Given the description of an element on the screen output the (x, y) to click on. 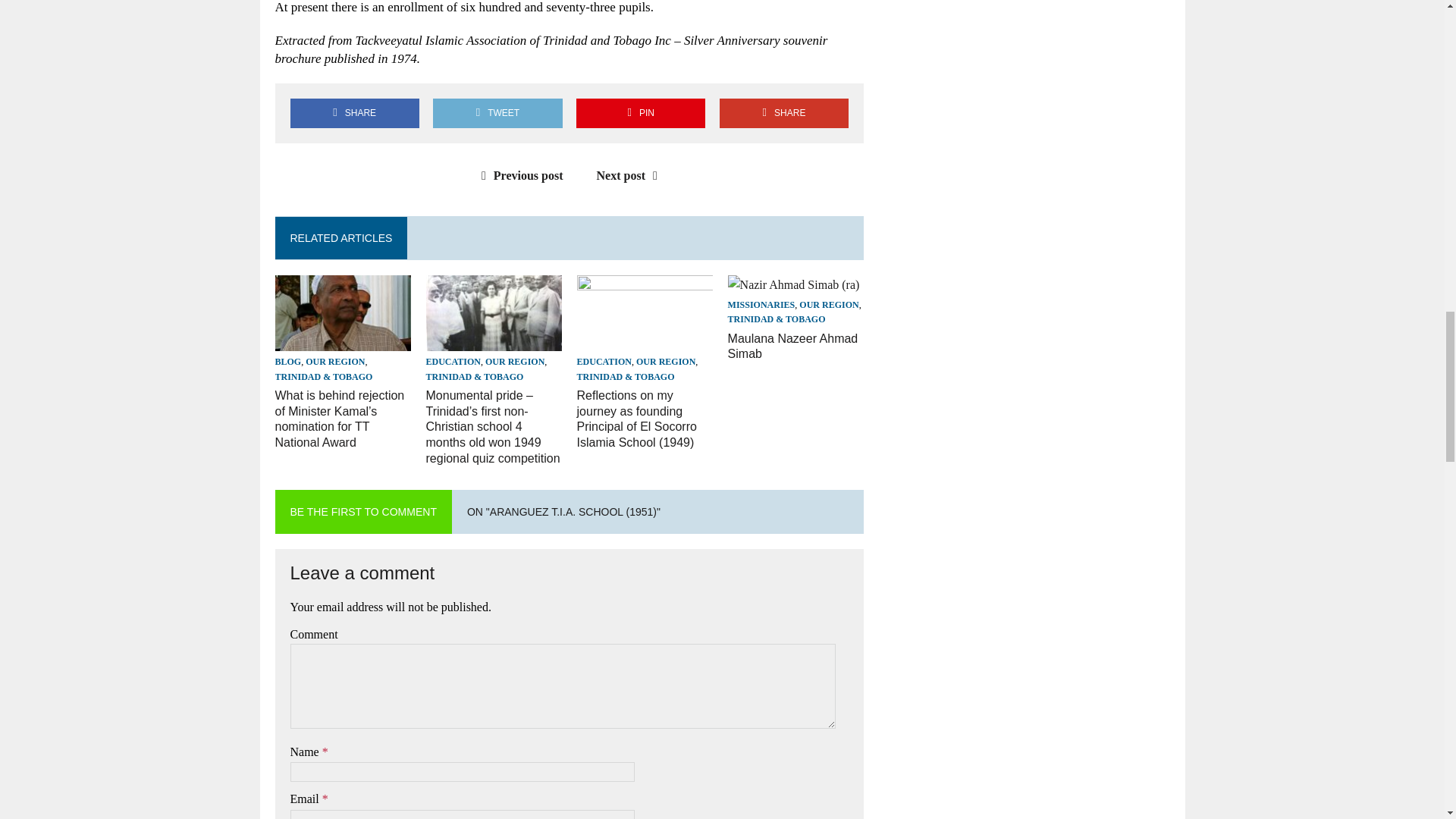
TWEET (497, 112)
Tweet This Post (497, 112)
Pin This Post (640, 112)
SHARE (354, 112)
Share on Facebook (354, 112)
